Given the description of an element on the screen output the (x, y) to click on. 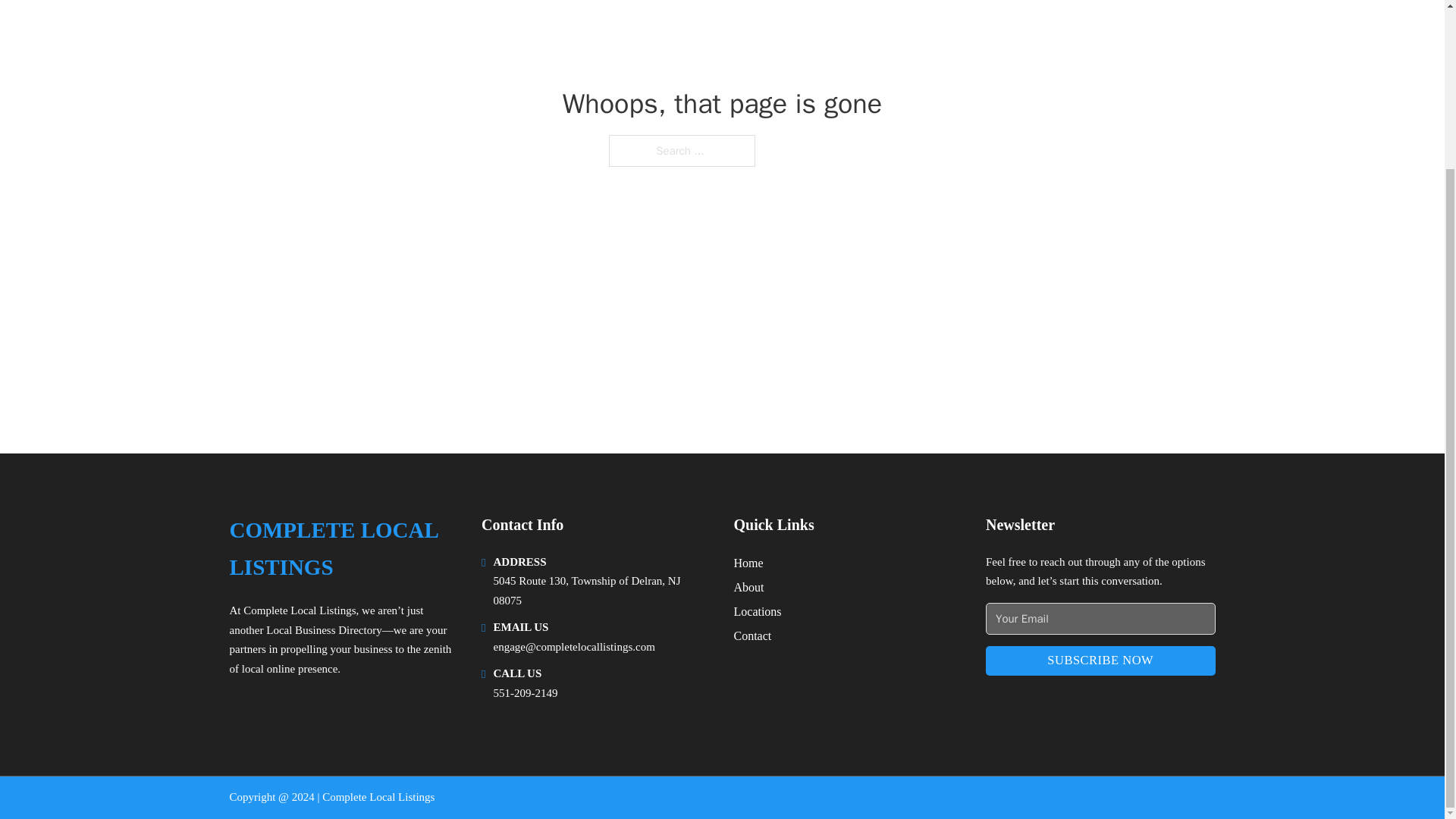
Locations (757, 611)
COMPLETE LOCAL LISTINGS (343, 549)
Complete Local Listings (299, 610)
Contact (752, 635)
Home (747, 562)
551-209-2149 (525, 693)
About (748, 587)
SUBSCRIBE NOW (1100, 660)
